Given the description of an element on the screen output the (x, y) to click on. 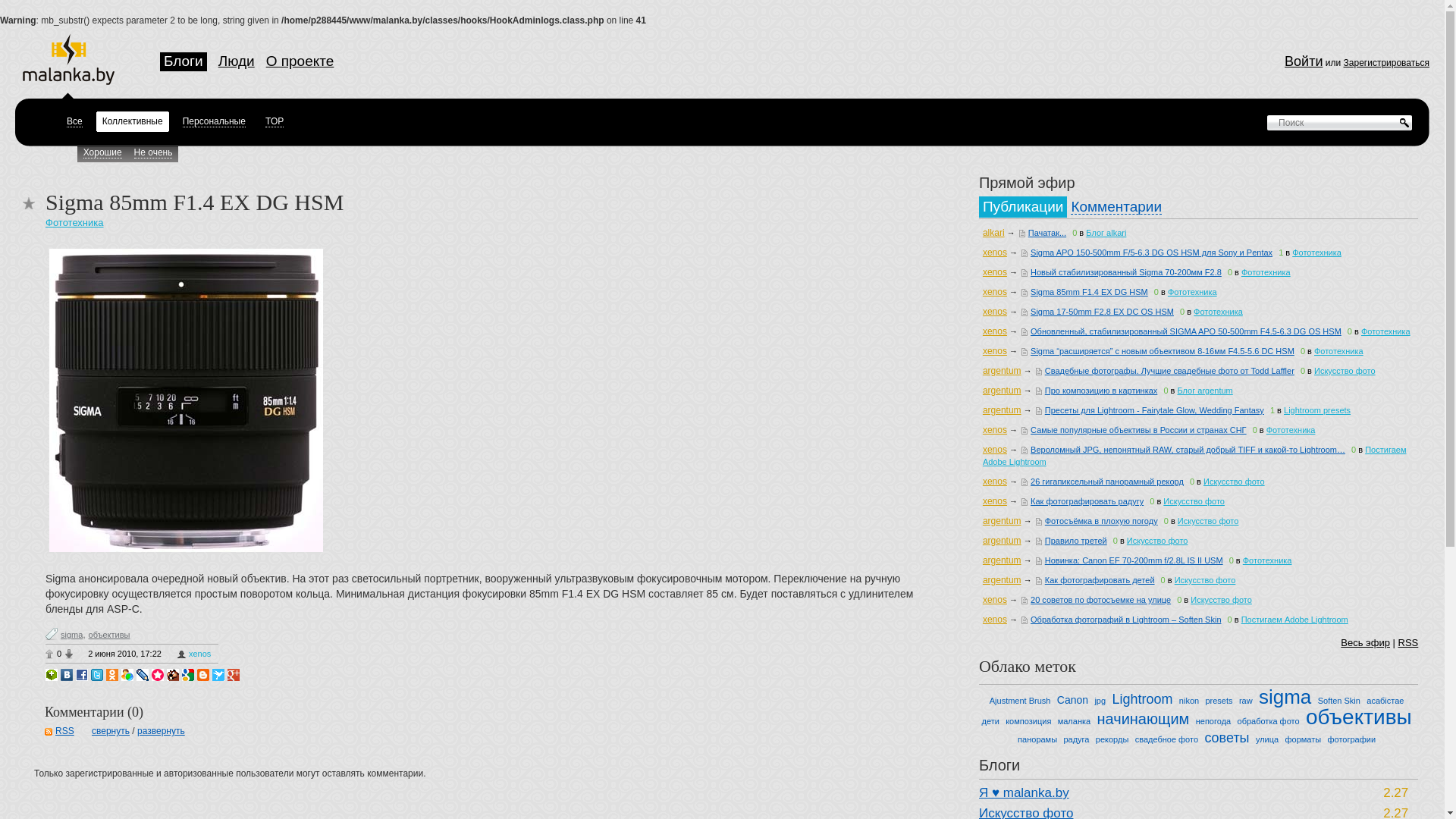
presets Element type: text (1218, 700)
TOP Element type: text (274, 121)
xenos Element type: text (994, 311)
xenos Element type: text (994, 449)
xenos Element type: text (994, 619)
xenos Element type: text (994, 252)
Blogger Element type: hover (203, 674)
Lightroom Element type: text (1141, 698)
Facebook Element type: hover (81, 674)
argentum Element type: text (1001, 560)
nikon Element type: text (1188, 700)
argentum Element type: text (1001, 520)
.by Element type: text (68, 58)
xenos Element type: text (994, 350)
xenos Element type: text (193, 653)
Surfingbird Element type: hover (218, 674)
argentum Element type: text (1001, 390)
sigma Element type: text (71, 634)
Sigma 85mm F1.4 EX DG HSM Element type: hover (186, 400)
Ajustment Brush Element type: text (1020, 700)
Google+ Element type: hover (233, 674)
alkari Element type: text (993, 232)
xenos Element type: text (994, 481)
argentum Element type: text (1001, 579)
Lightroom presets Element type: text (1316, 409)
xenos Element type: text (994, 271)
argentum Element type: text (1001, 409)
Soften Skin Element type: text (1338, 700)
Sigma 85mm F1.4 EX DG HSM Element type: text (1090, 291)
Twitter Element type: hover (97, 674)
RSS Element type: text (1408, 642)
jpg Element type: text (1099, 700)
raw Element type: text (1245, 700)
xenos Element type: text (994, 599)
Memori Element type: hover (157, 674)
argentum Element type: text (1001, 370)
argentum Element type: text (1001, 540)
xenos Element type: text (994, 500)
Sigma 17-50mm F2.8 EX DC OS HSM Element type: text (1103, 311)
sigma Element type: text (1284, 696)
RSS Element type: text (59, 730)
xenos Element type: text (994, 429)
xenos Element type: text (994, 291)
LiveJournal Element type: hover (142, 674)
Canon Element type: text (1072, 699)
xenos Element type: text (994, 331)
